Given the description of an element on the screen output the (x, y) to click on. 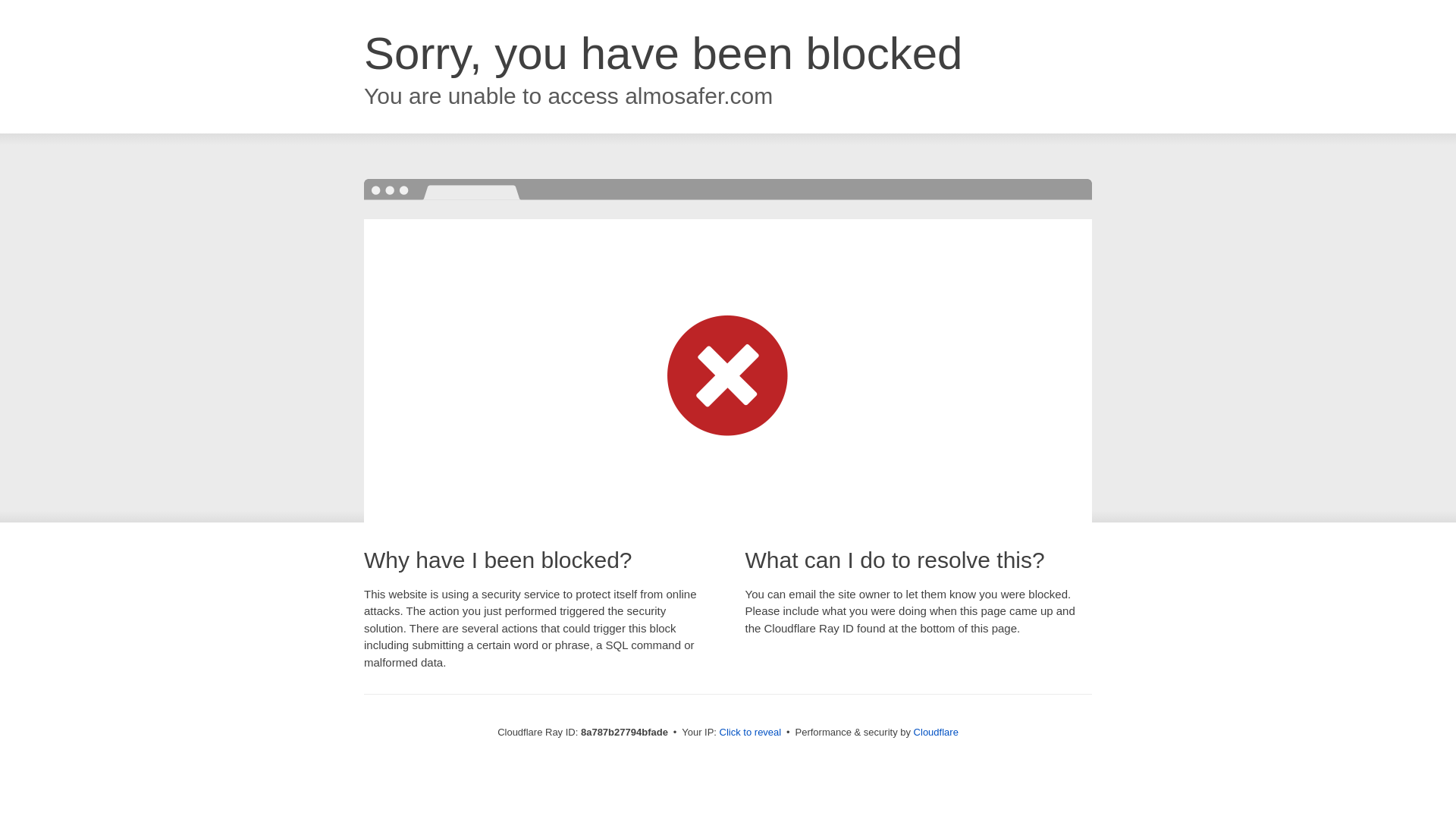
Click to reveal (750, 732)
Cloudflare (936, 731)
